Given the description of an element on the screen output the (x, y) to click on. 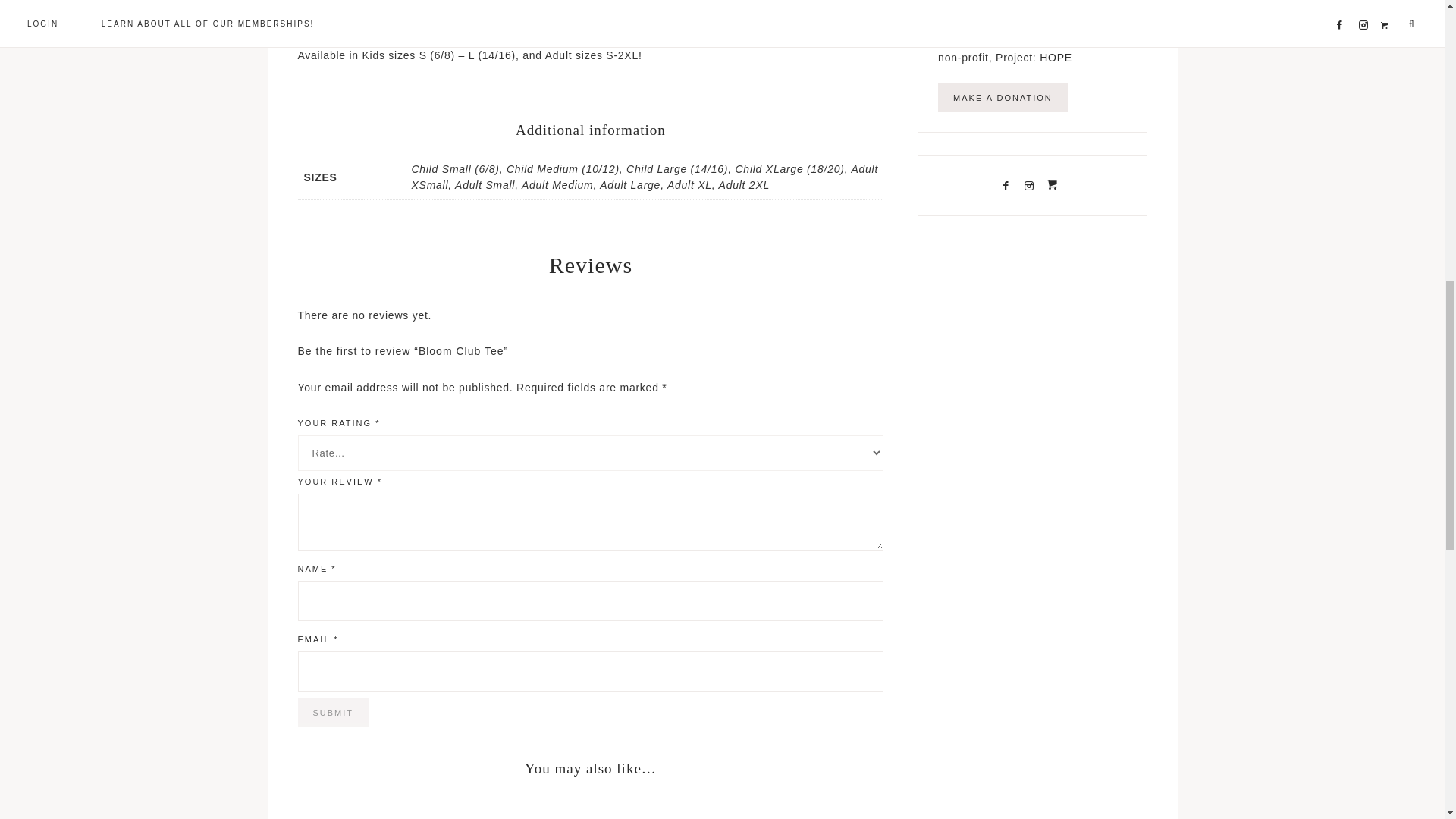
Shop (1055, 184)
Facebook (1007, 184)
Submit (332, 712)
Instagram (1031, 184)
Submit (332, 712)
